Given the description of an element on the screen output the (x, y) to click on. 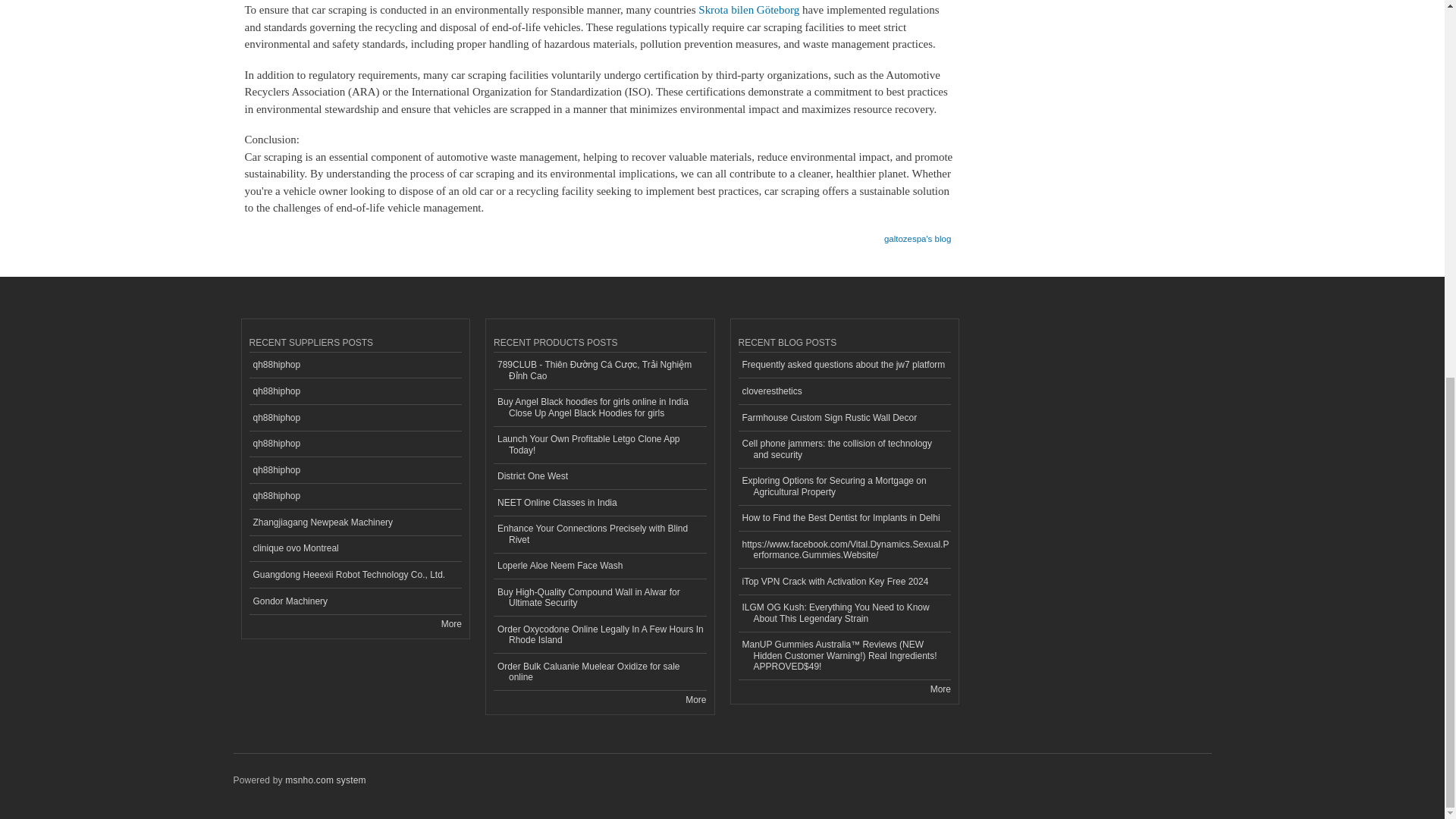
qh88hiphop (354, 365)
Read the latest blog entries. (940, 688)
Zhangjiagang Newpeak Machinery (354, 522)
More (451, 624)
galtozespa's blog (916, 233)
Gondor Machinery (354, 601)
Launch Your Own Profitable Letgo Clone App Today! (599, 445)
Guangdong Heeexii Robot Technology Co., Ltd. (354, 574)
NEET Online Classes in India (599, 502)
